Given the description of an element on the screen output the (x, y) to click on. 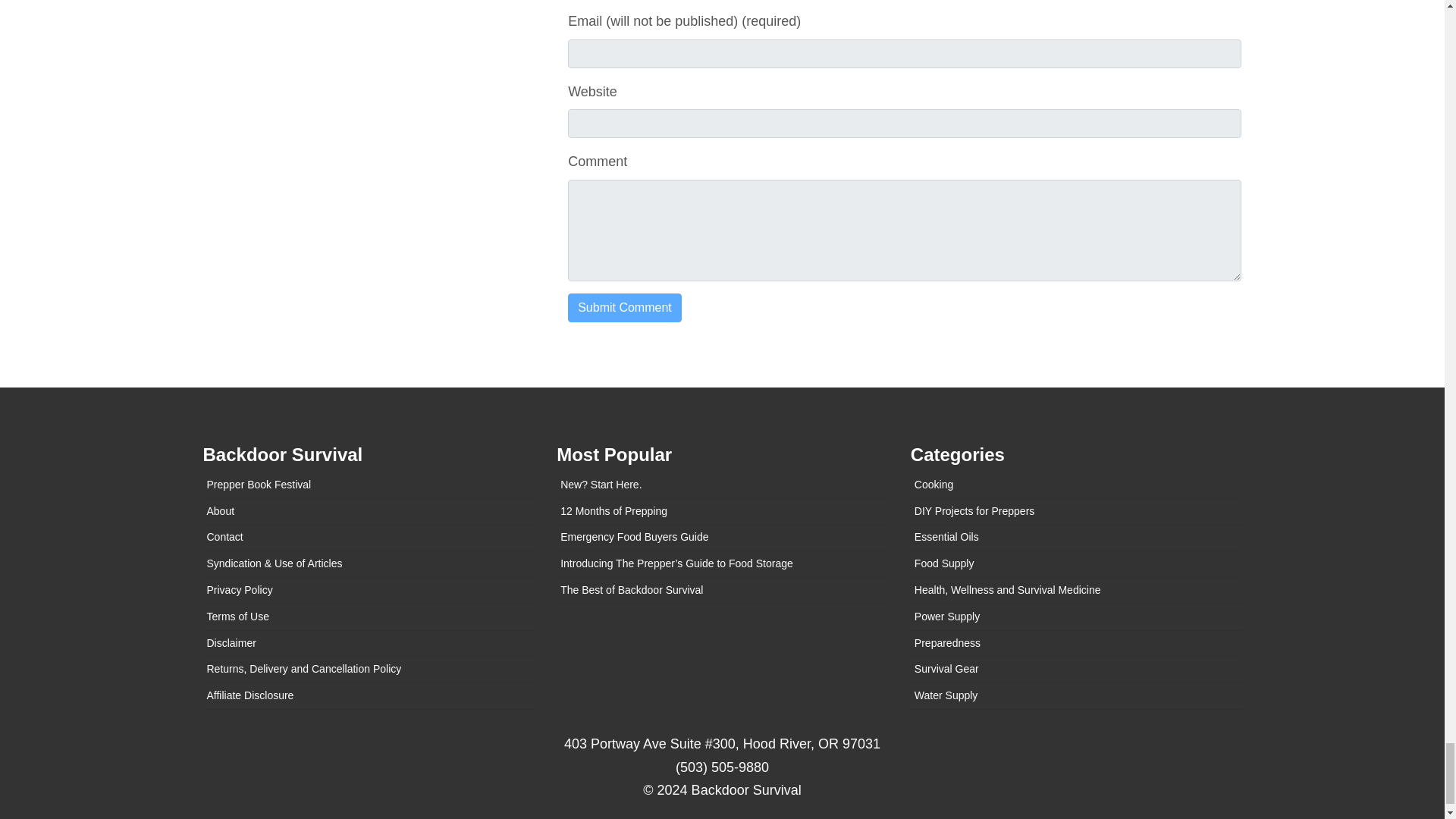
Submit Comment (624, 307)
